Given the description of an element on the screen output the (x, y) to click on. 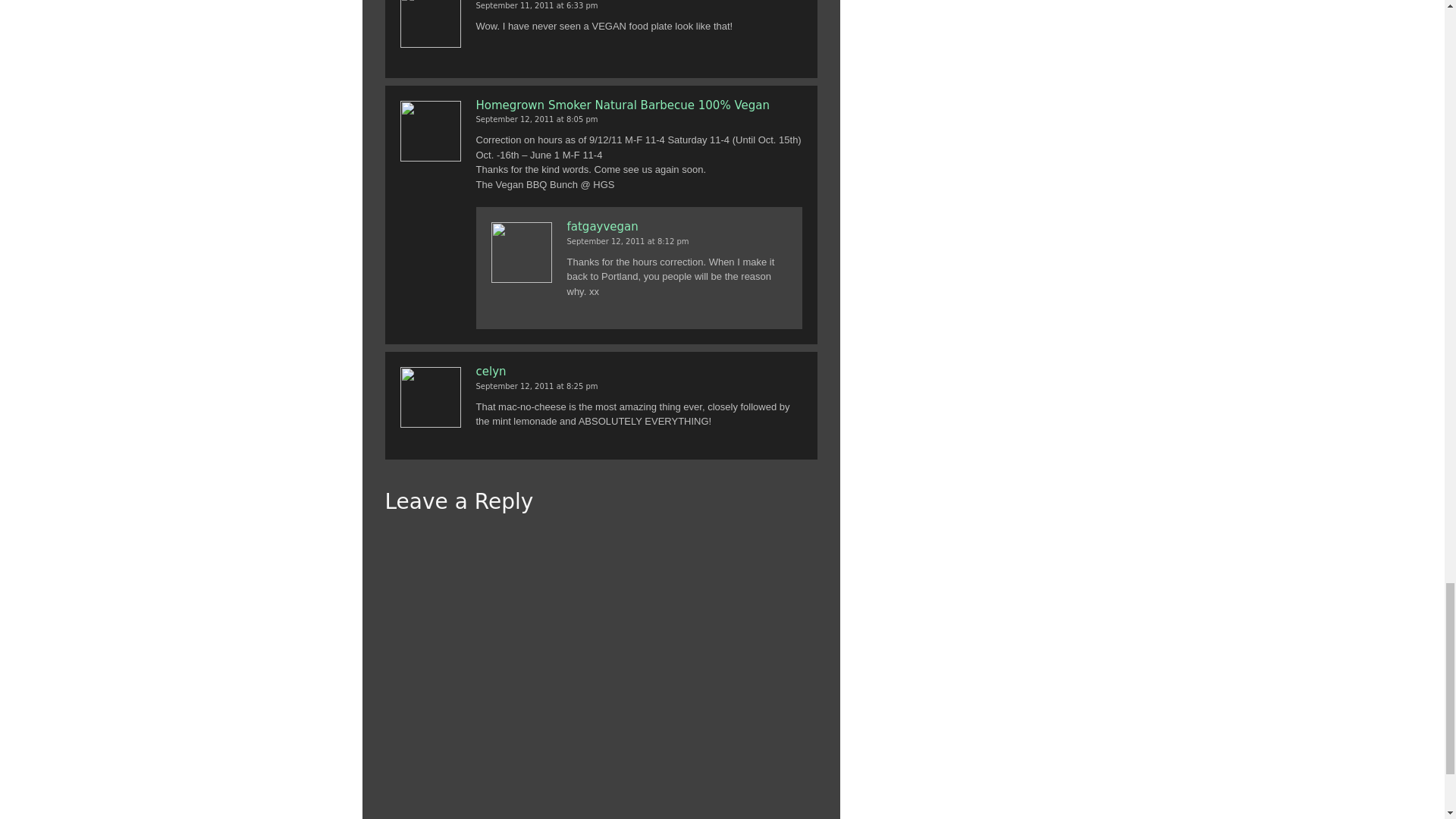
Comment Form (600, 674)
